Given the description of an element on the screen output the (x, y) to click on. 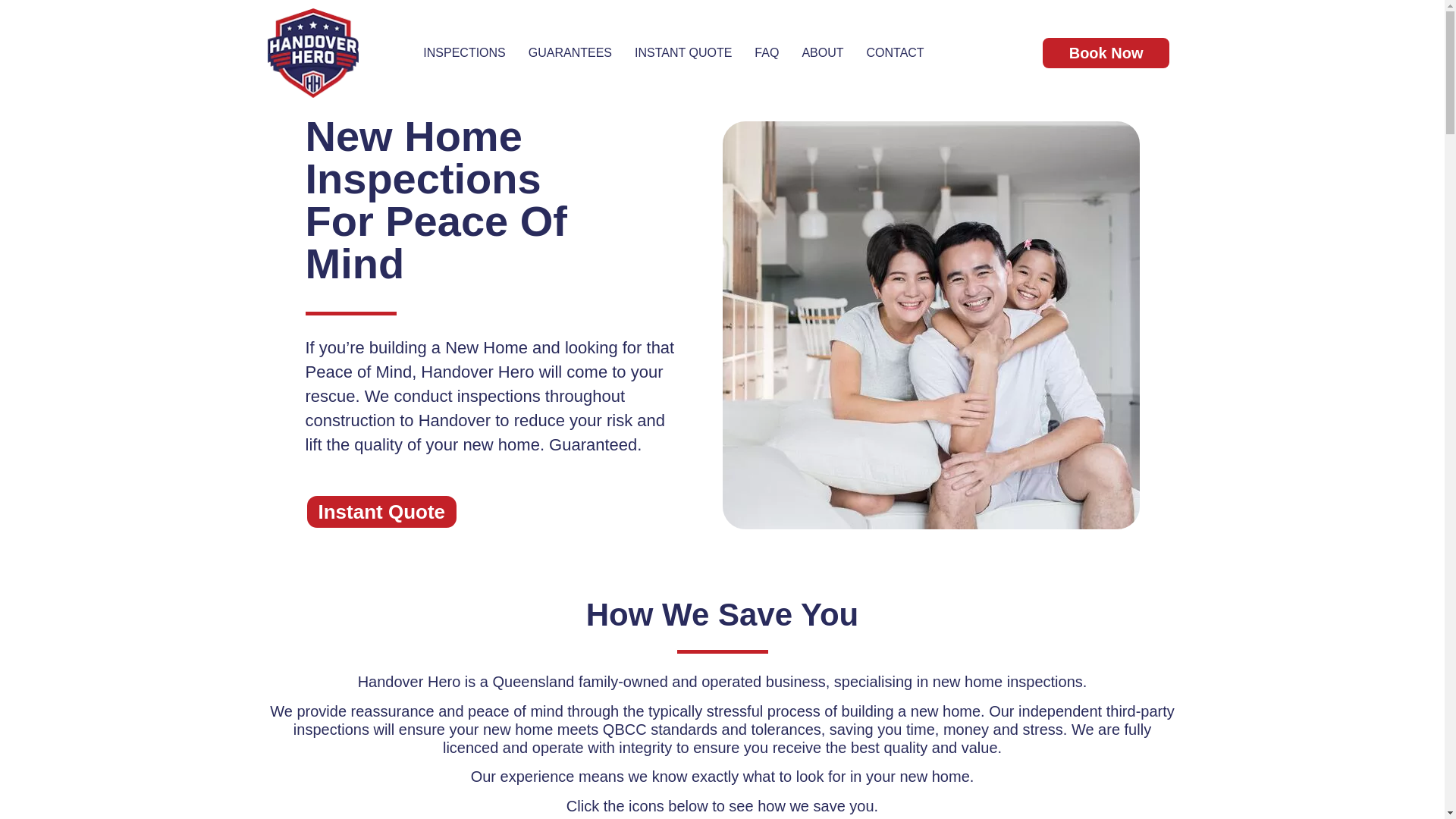
INSTANT QUOTE Element type: text (683, 53)
Book Now Element type: text (1106, 52)
Instant Quote Element type: text (381, 511)
FAQ Element type: text (766, 53)
GUARANTEES Element type: text (570, 53)
CONTACT Element type: text (895, 53)
INSPECTIONS Element type: text (463, 53)
ABOUT Element type: text (822, 53)
